Given the description of an element on the screen output the (x, y) to click on. 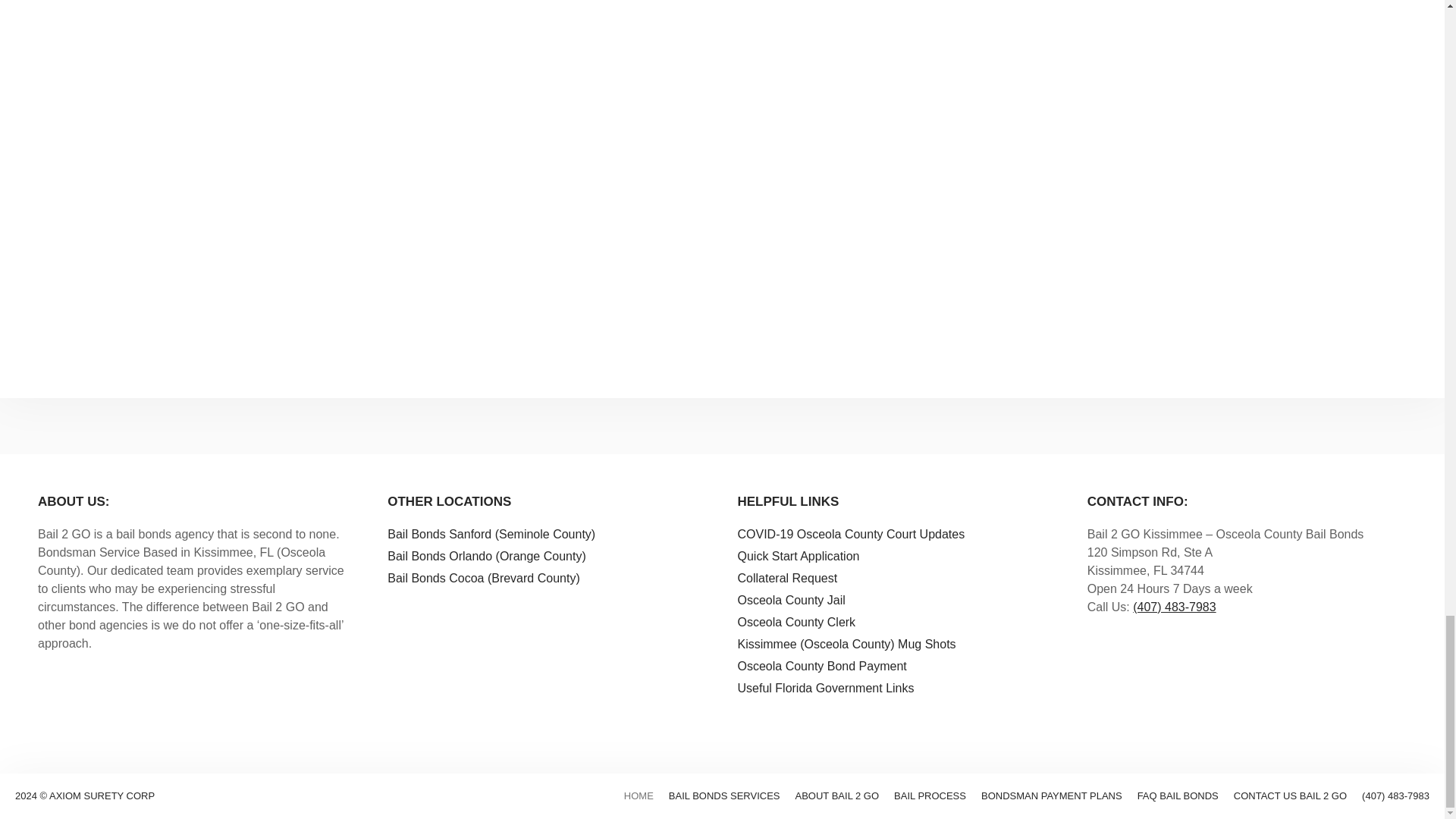
Quick Start Application (797, 555)
BAIL PROCESS (929, 795)
FAQ BAIL BONDS (1177, 795)
COVID-19 Osceola County Court Updates (849, 533)
BONDSMAN PAYMENT PLANS (1051, 795)
Collateral Request (786, 577)
find in facebook (1139, 725)
ABOUT BAIL 2 GO (836, 795)
BAIL BONDS SERVICES (724, 795)
CONTACT US BAIL 2 GO (1289, 795)
